Given the description of an element on the screen output the (x, y) to click on. 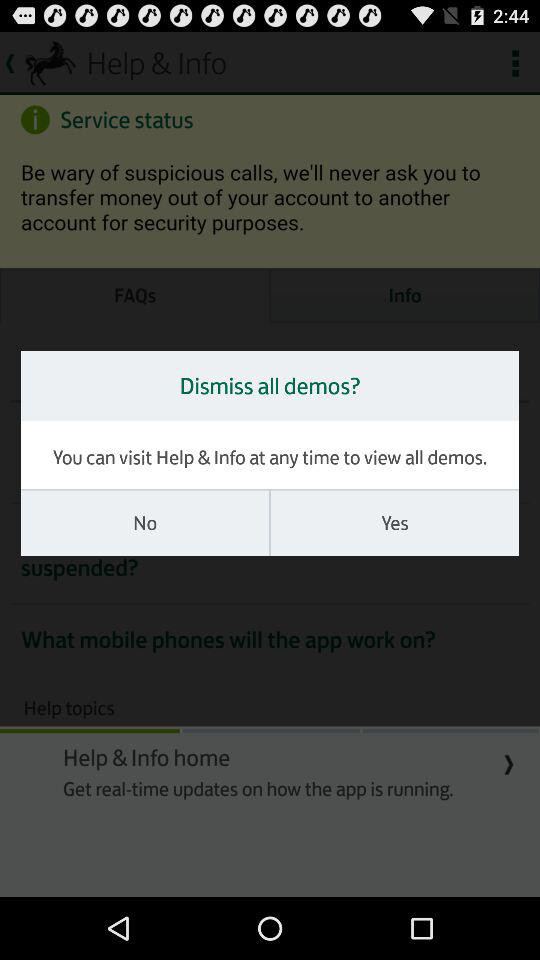
flip to the yes icon (394, 523)
